Given the description of an element on the screen output the (x, y) to click on. 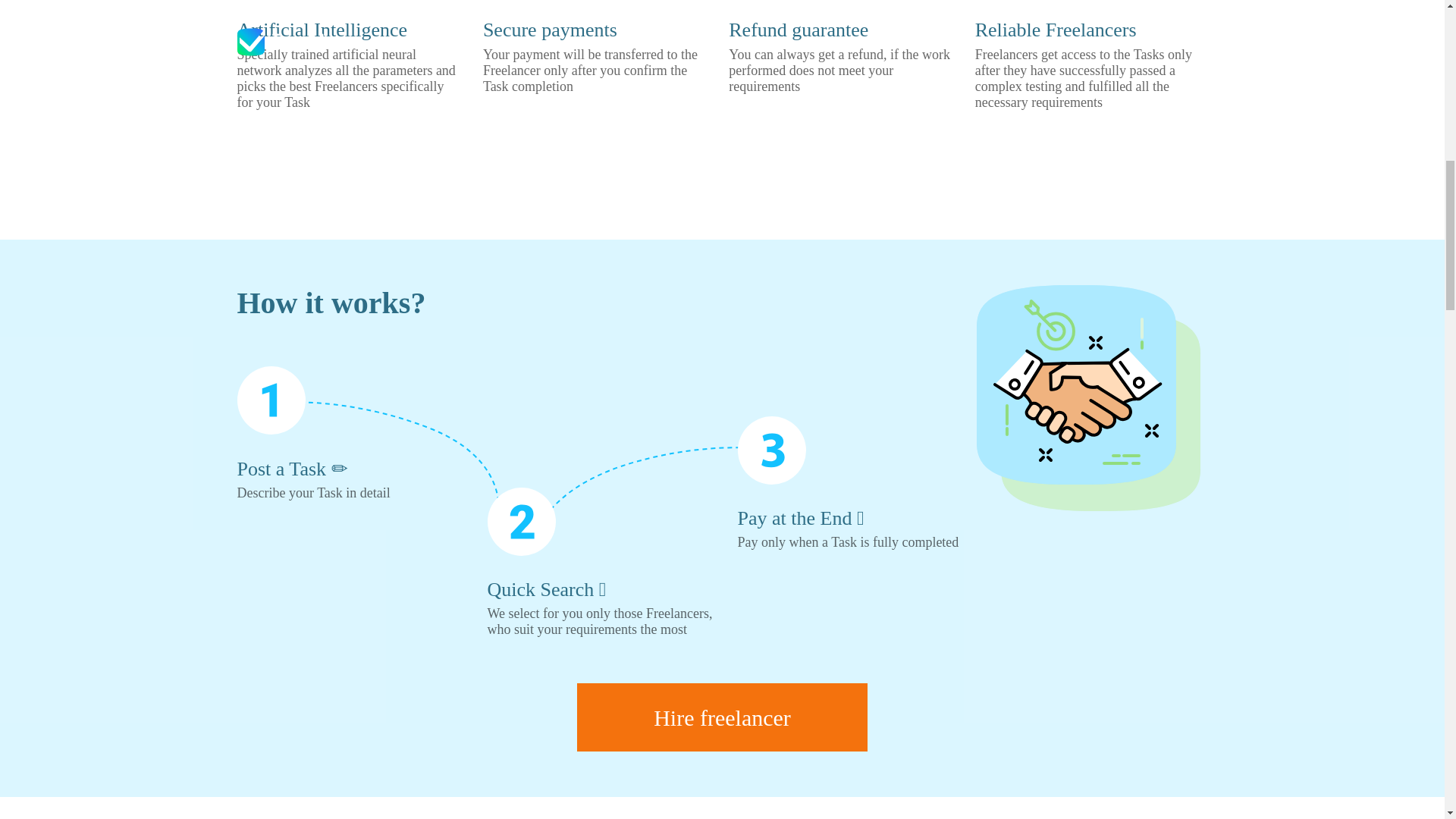
Hire freelancer (721, 717)
